Given the description of an element on the screen output the (x, y) to click on. 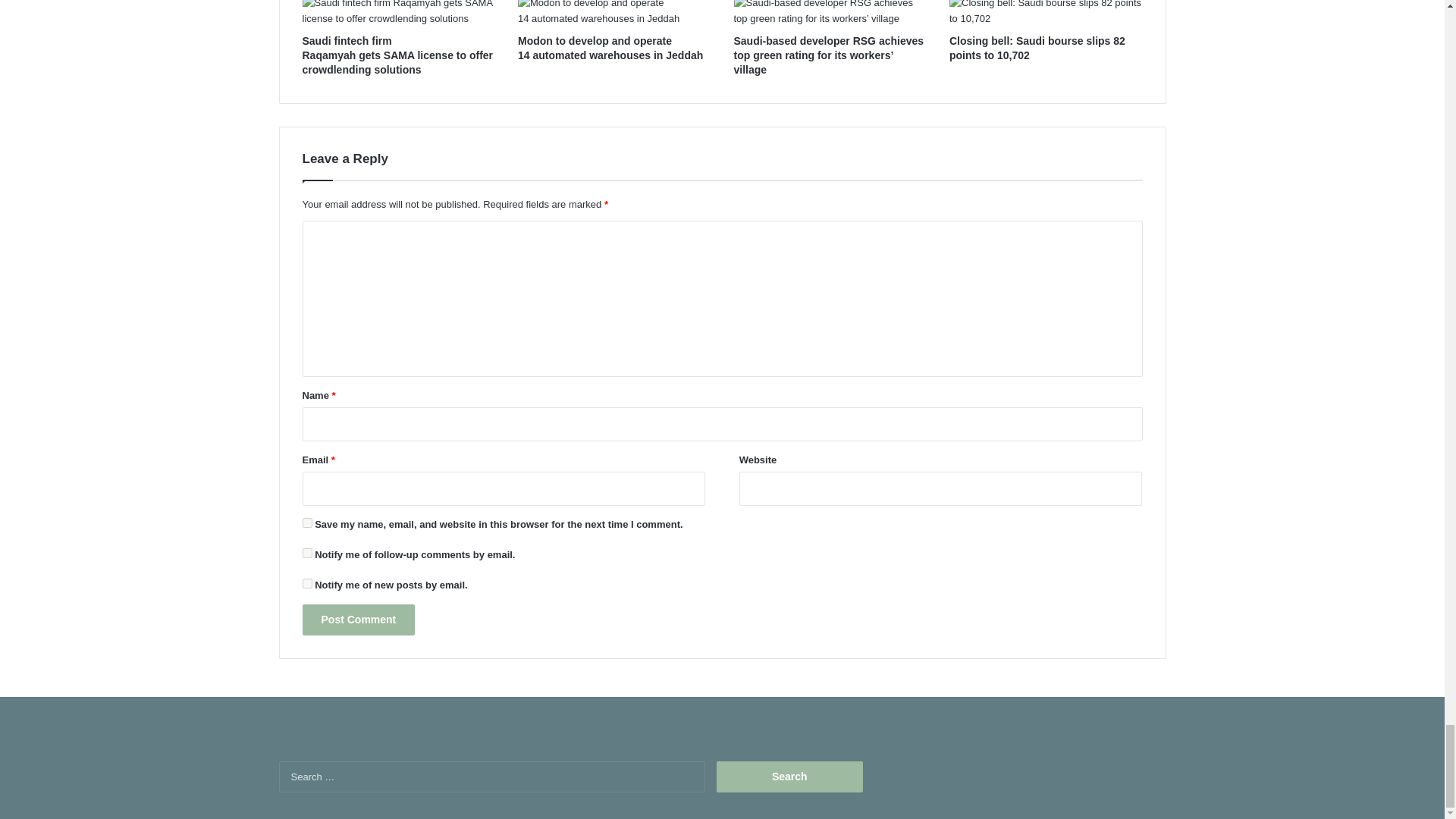
yes (306, 522)
Search (789, 776)
Search (789, 776)
Post Comment (357, 619)
subscribe (306, 552)
subscribe (306, 583)
